Given the description of an element on the screen output the (x, y) to click on. 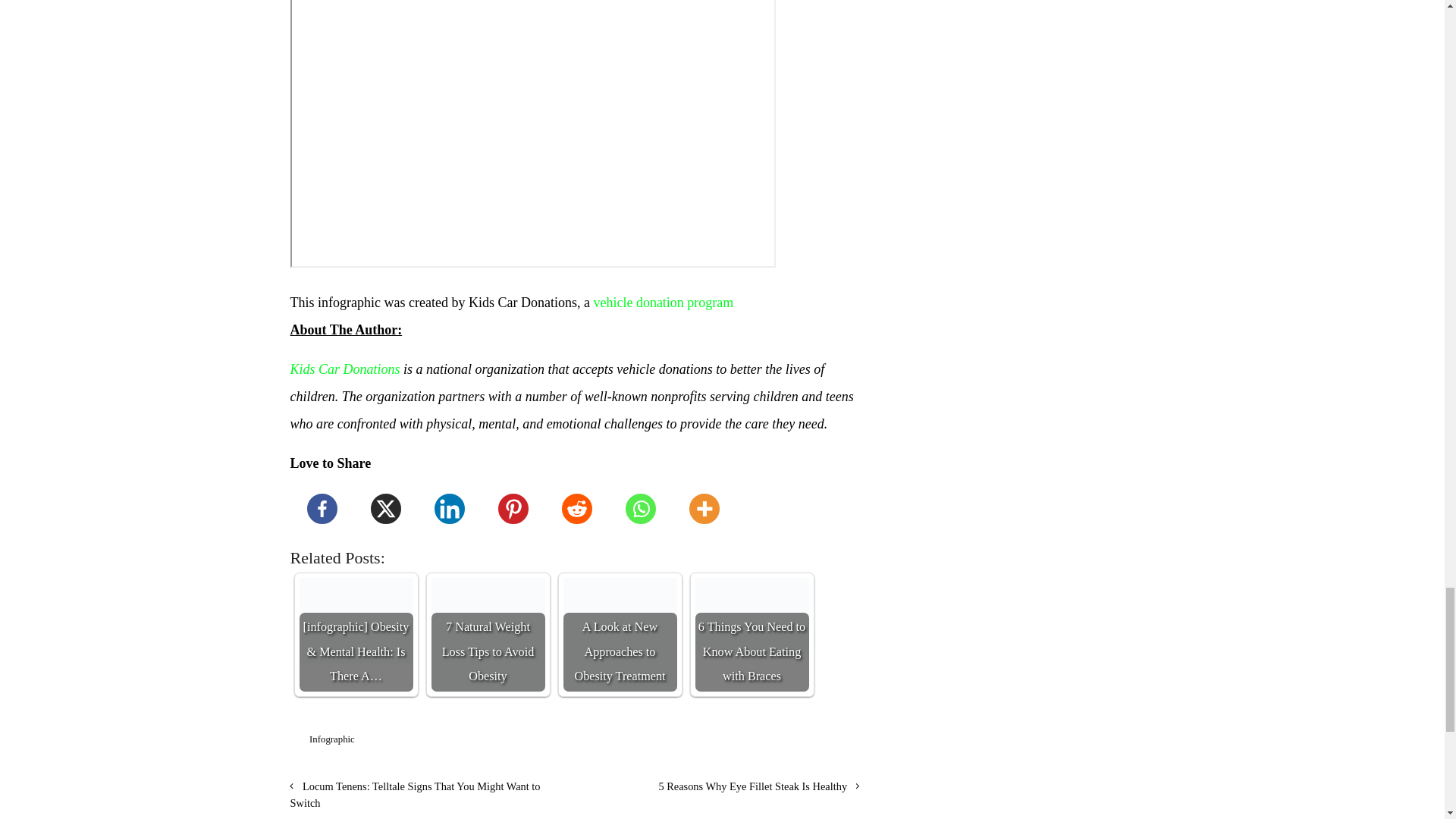
7 Natural Weight Loss Tips to Avoid Obesity (487, 634)
Locum Tenens: Telltale Signs That You Might Want to Switch (414, 794)
5 Reasons Why Eye Fillet Steak Is Healthy (758, 786)
Infographic (331, 738)
6 Things You Need to Know About Eating with Braces (751, 634)
Facebook (321, 508)
Pinterest (512, 508)
vehicle donation program (662, 302)
Reddit (576, 508)
6 Things You Need to Know About Eating with Braces (751, 615)
Whatsapp (639, 508)
X (384, 508)
Kids Car Donations (343, 368)
More (702, 508)
A Look at New Approaches to Obesity Treatment (619, 634)
